Given the description of an element on the screen output the (x, y) to click on. 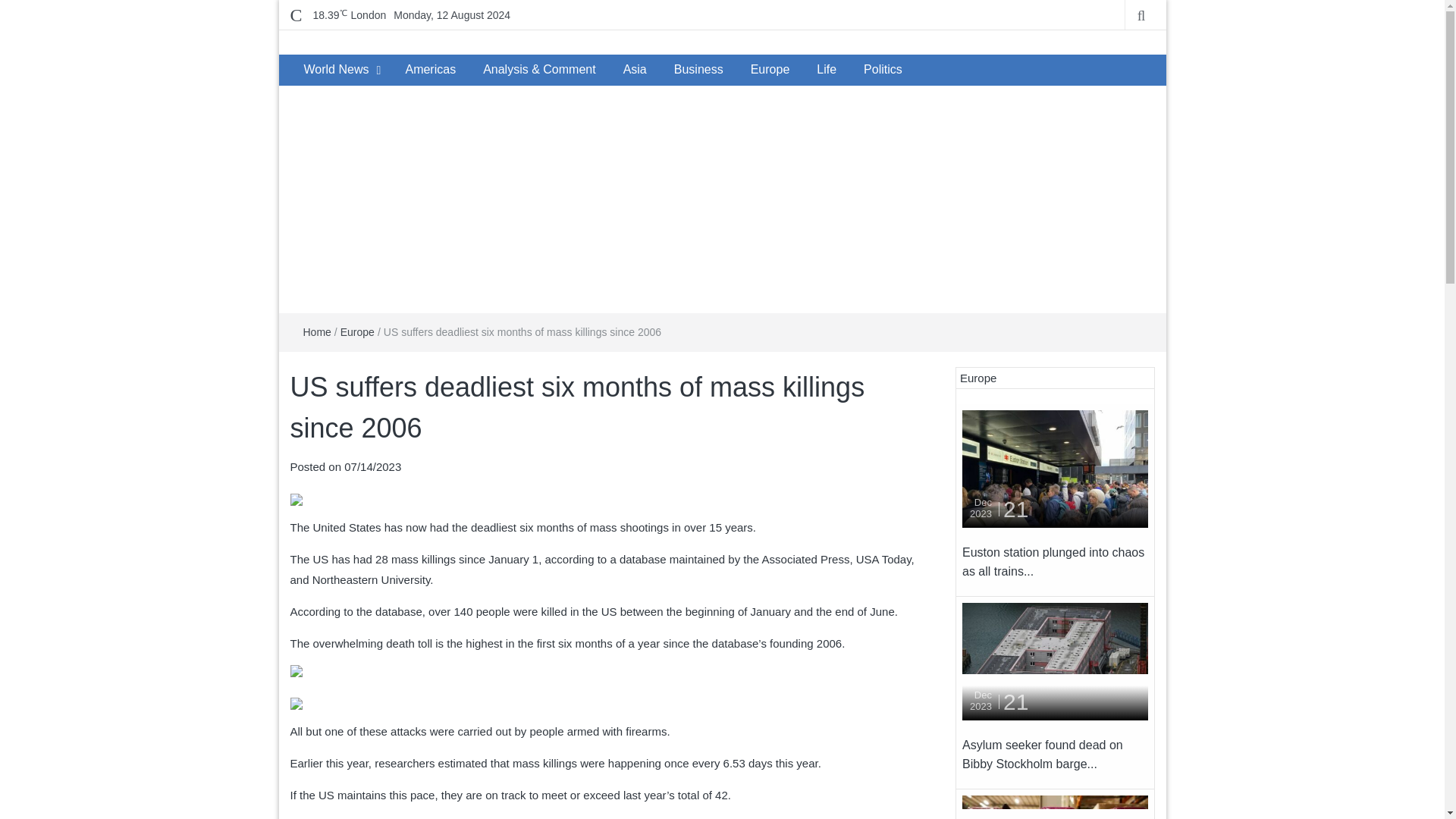
Life (826, 69)
Euston station plunged into chaos as all trains cancelled (1055, 468)
Search (15, 6)
Politics (882, 69)
Euston station plunged into chaos as all trains cancelled (1055, 467)
World News (335, 69)
Europe (357, 331)
Americas (429, 69)
Business (698, 69)
